Given the description of an element on the screen output the (x, y) to click on. 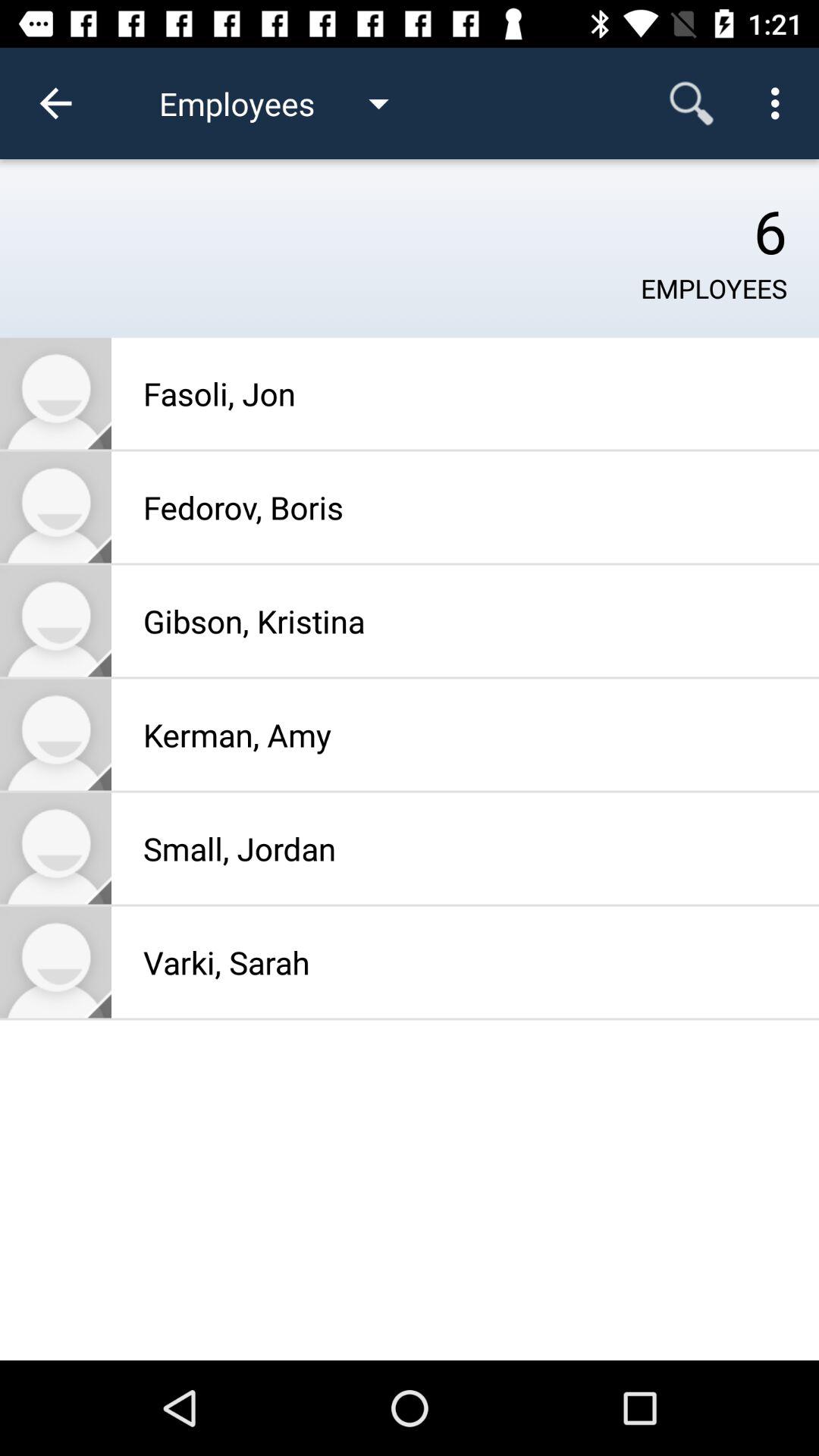
select gibson kristina (55, 620)
